Given the description of an element on the screen output the (x, y) to click on. 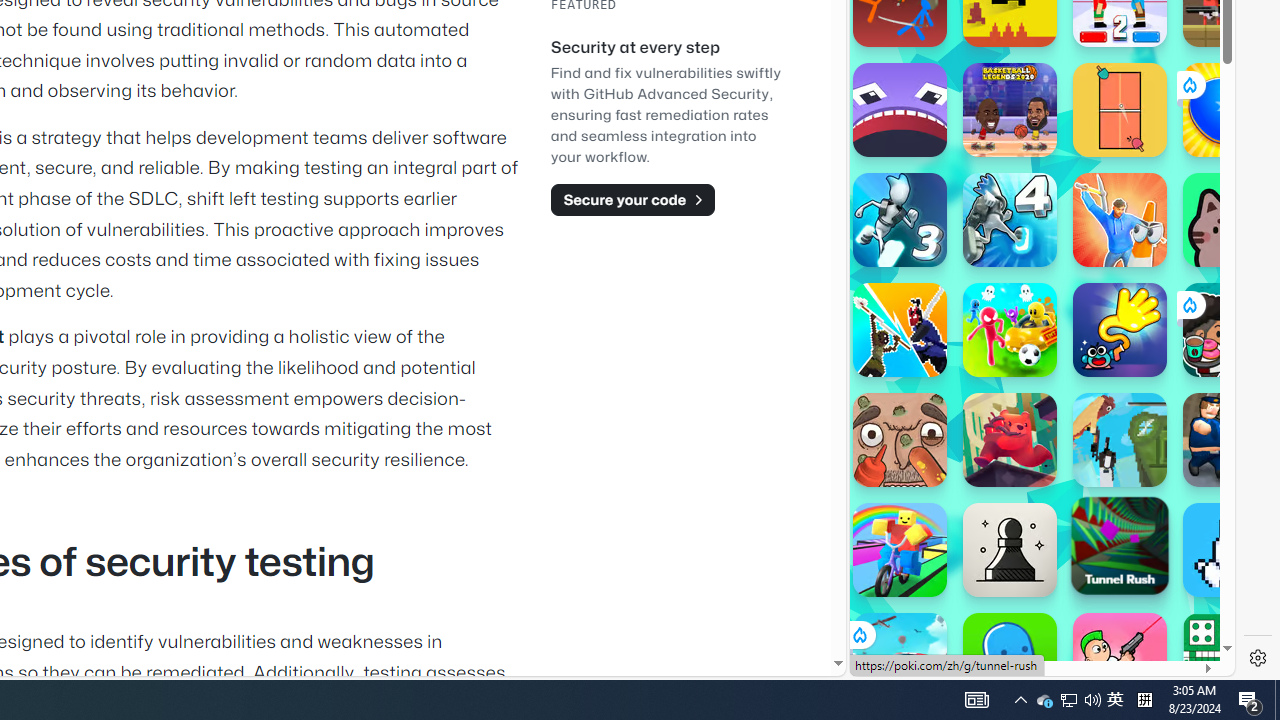
Basketball Legends 2020 (1009, 109)
Ping Pong Go! (1229, 109)
Hills of Steel (943, 200)
Hills of Steel Hills of Steel poki.com (943, 245)
Simply Prop Hunt Simply Prop Hunt (1119, 219)
Getaway Shootout (1119, 439)
Search results from poki.com (1005, 59)
Secure your code (632, 199)
Hospital Stories: Doctor Rugby (899, 439)
Combat Reloaded (1090, 290)
Catpad (1229, 219)
G-Switch 4 G-Switch 4 (1009, 219)
Catpad Catpad (1229, 219)
Swingo (1119, 329)
